Given the description of an element on the screen output the (x, y) to click on. 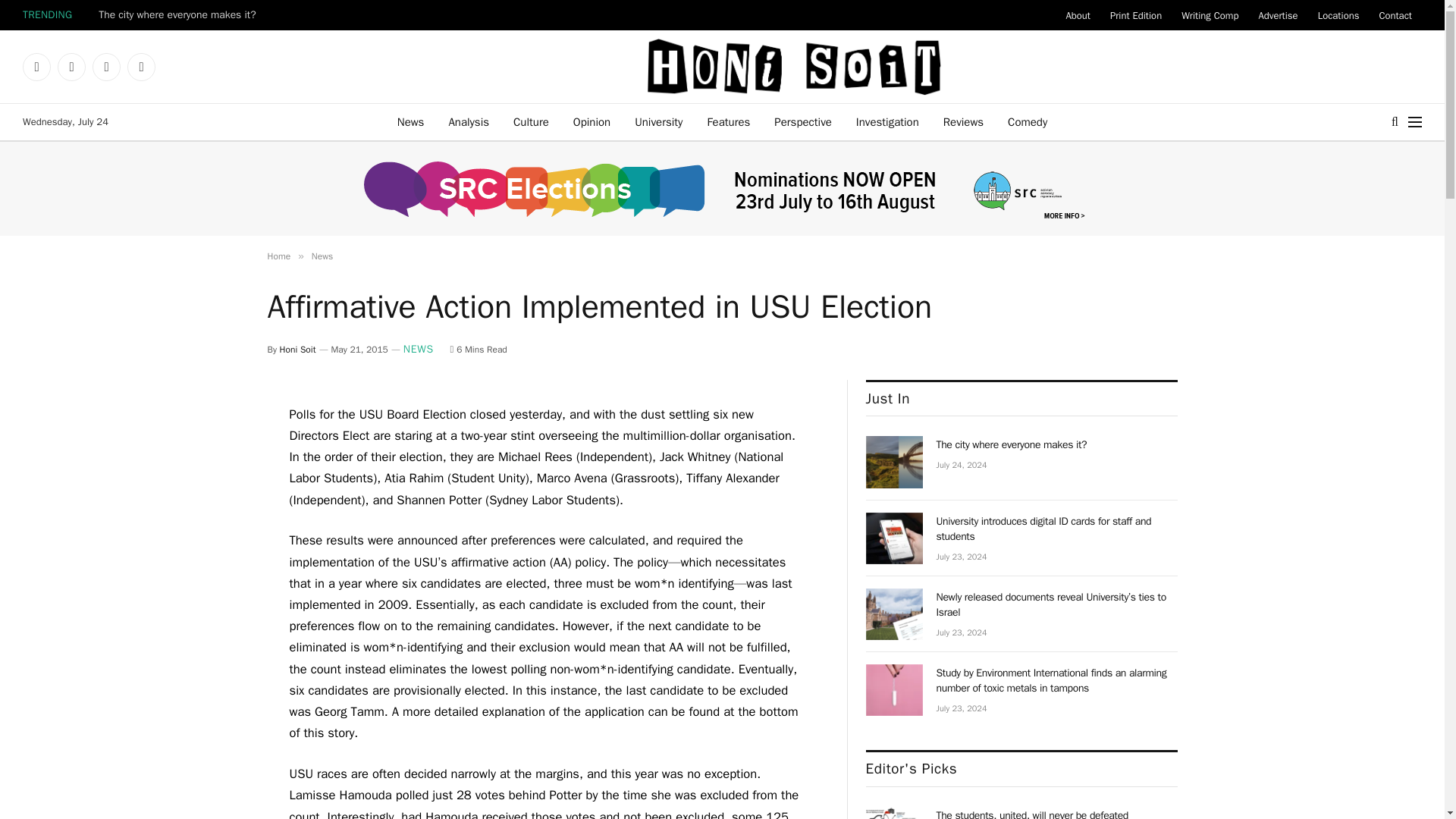
Perspective (802, 122)
Opinion (591, 122)
The city where everyone makes it? (894, 461)
Print Edition (1136, 15)
News (410, 122)
Instagram (71, 67)
Facebook (36, 67)
Advertise (1277, 15)
Locations (1338, 15)
TikTok (141, 67)
Posts by Honi Soit (297, 349)
Writing Comp (1209, 15)
University (658, 122)
Reviews (963, 122)
Analysis (467, 122)
